Given the description of an element on the screen output the (x, y) to click on. 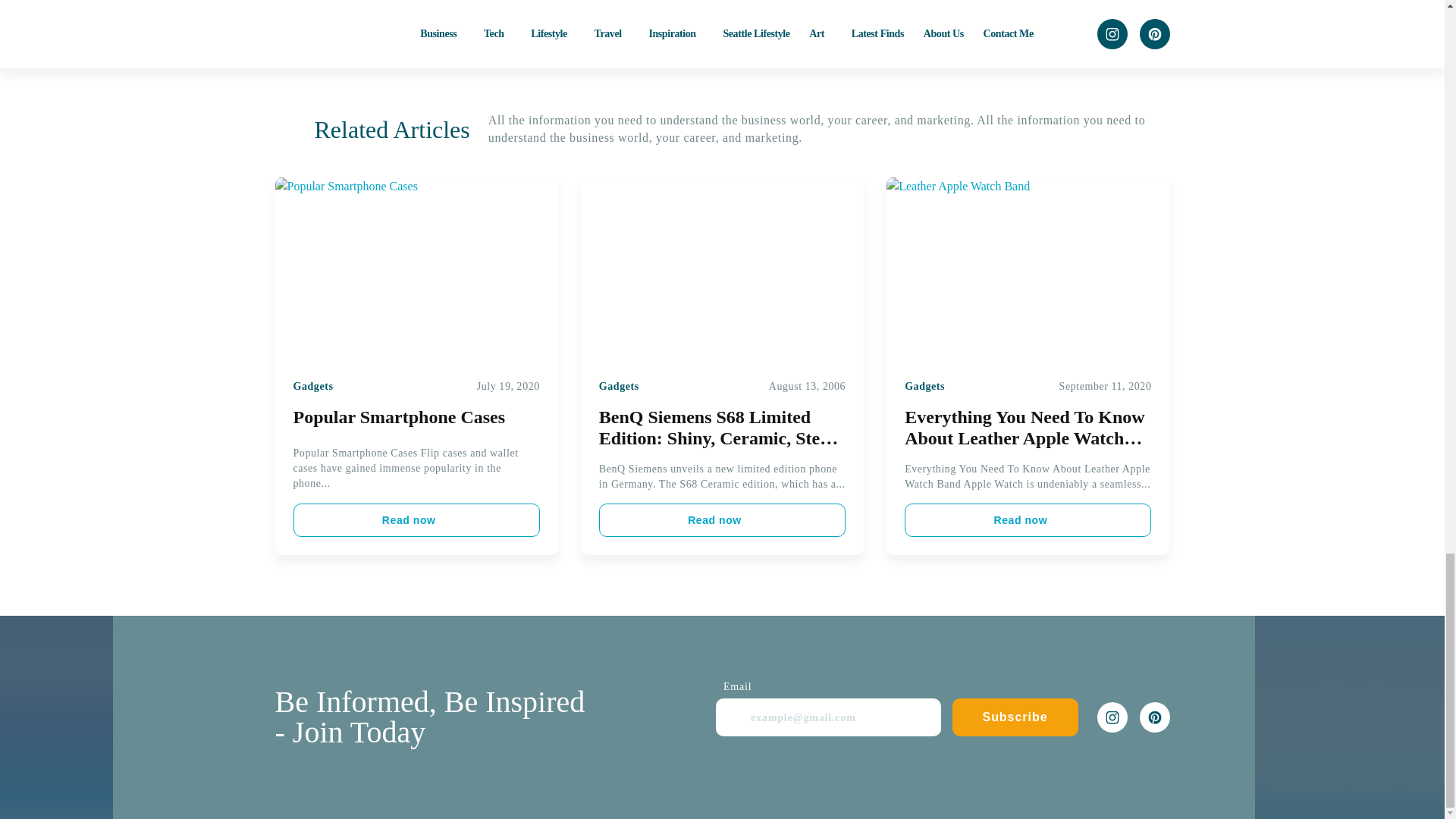
Subscribe (1015, 717)
